Given the description of an element on the screen output the (x, y) to click on. 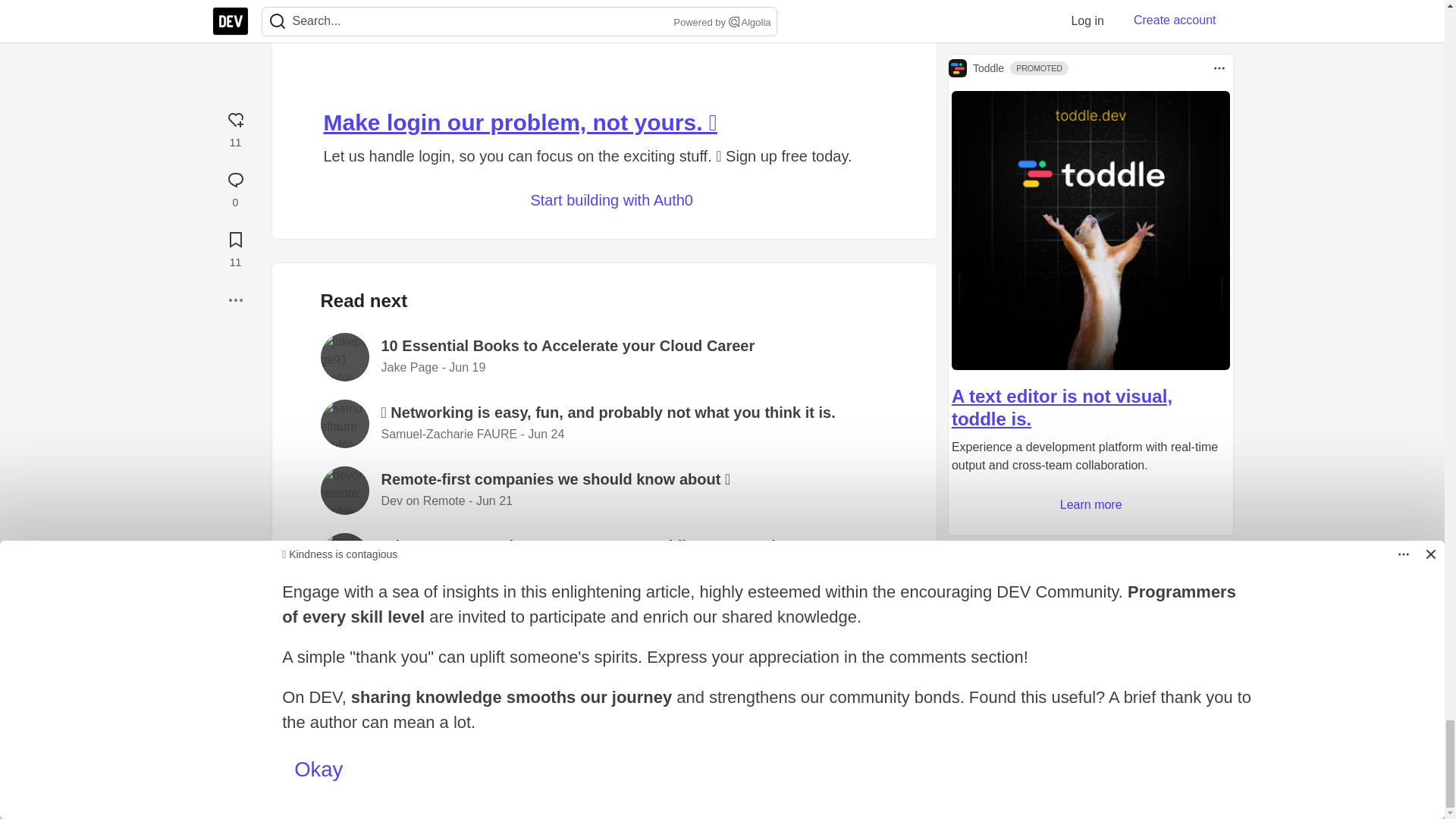
copyright (814, 770)
